Given the description of an element on the screen output the (x, y) to click on. 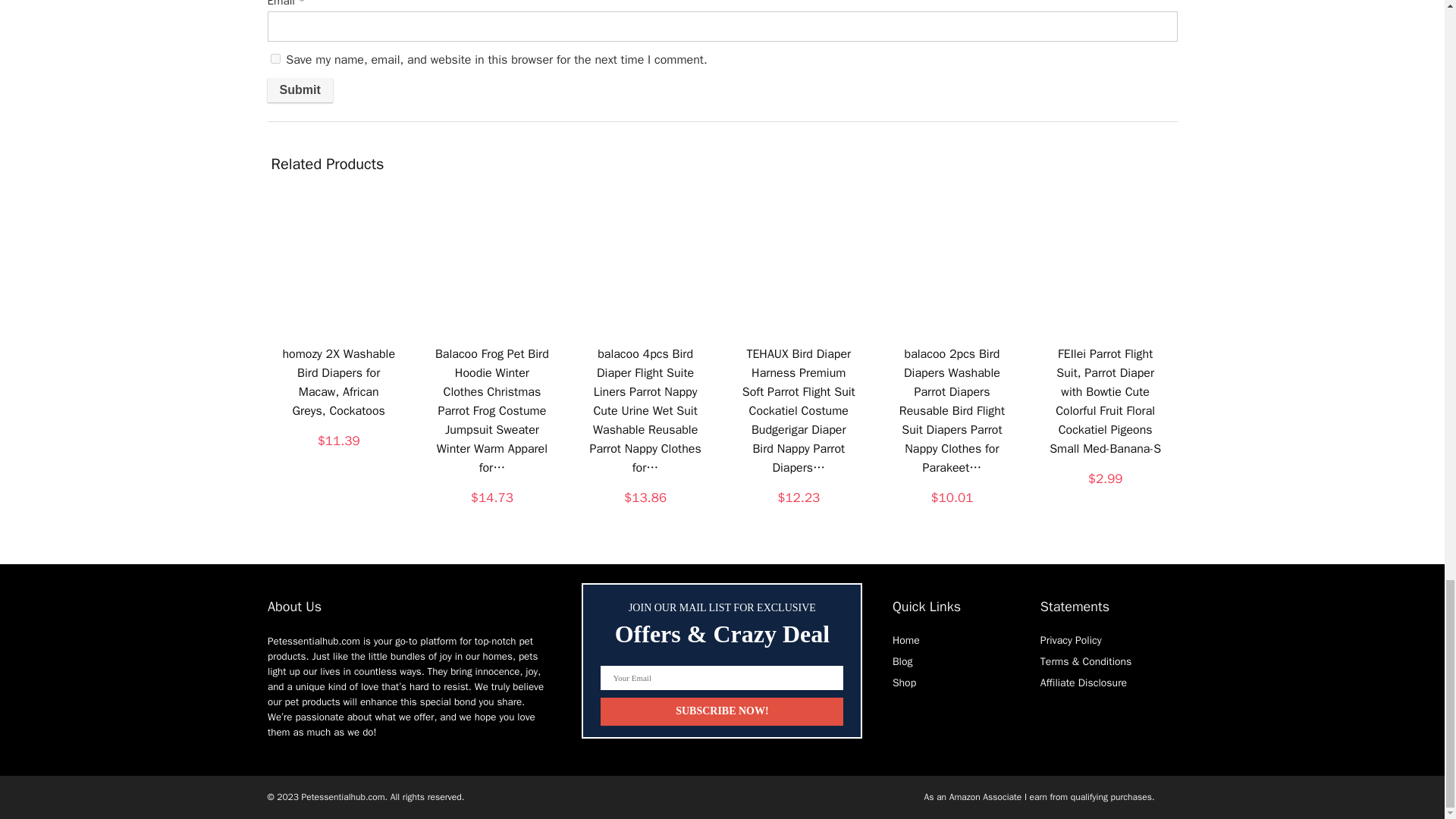
Submit (298, 89)
SUBSCRIBE NOW! (721, 711)
yes (274, 58)
